Given the description of an element on the screen output the (x, y) to click on. 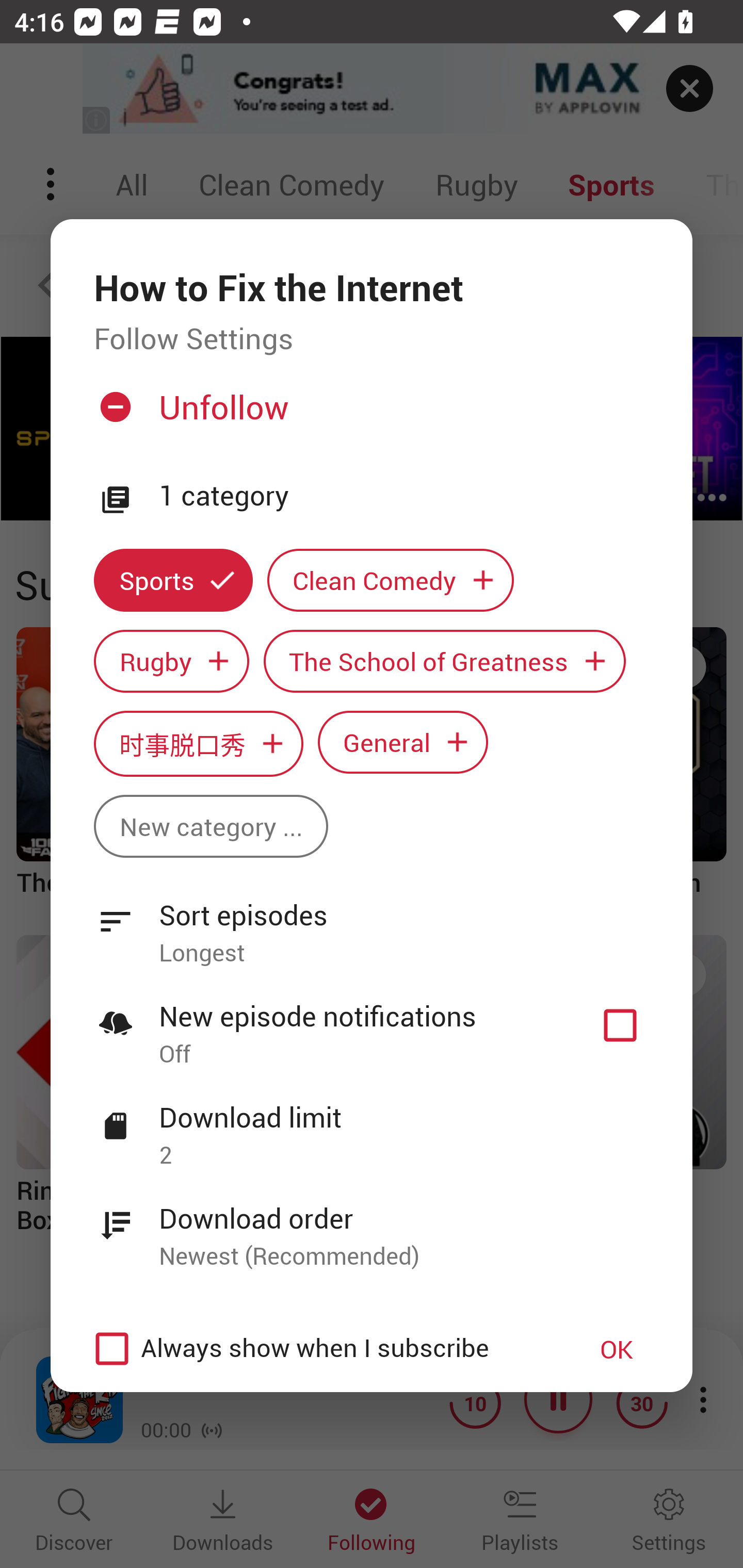
Unfollow (369, 415)
1 category (404, 495)
Sports (172, 579)
Clean Comedy (390, 579)
Rugby (170, 661)
The School of Greatness (444, 661)
时事脱口秀 (198, 743)
General (403, 741)
New category ... (210, 825)
Sort episodes Longest (371, 922)
New episode notifications (620, 1025)
Download limit 2 (371, 1125)
Download order Newest (Recommended) (371, 1226)
OK (616, 1349)
Always show when I subscribe (320, 1349)
